Given the description of an element on the screen output the (x, y) to click on. 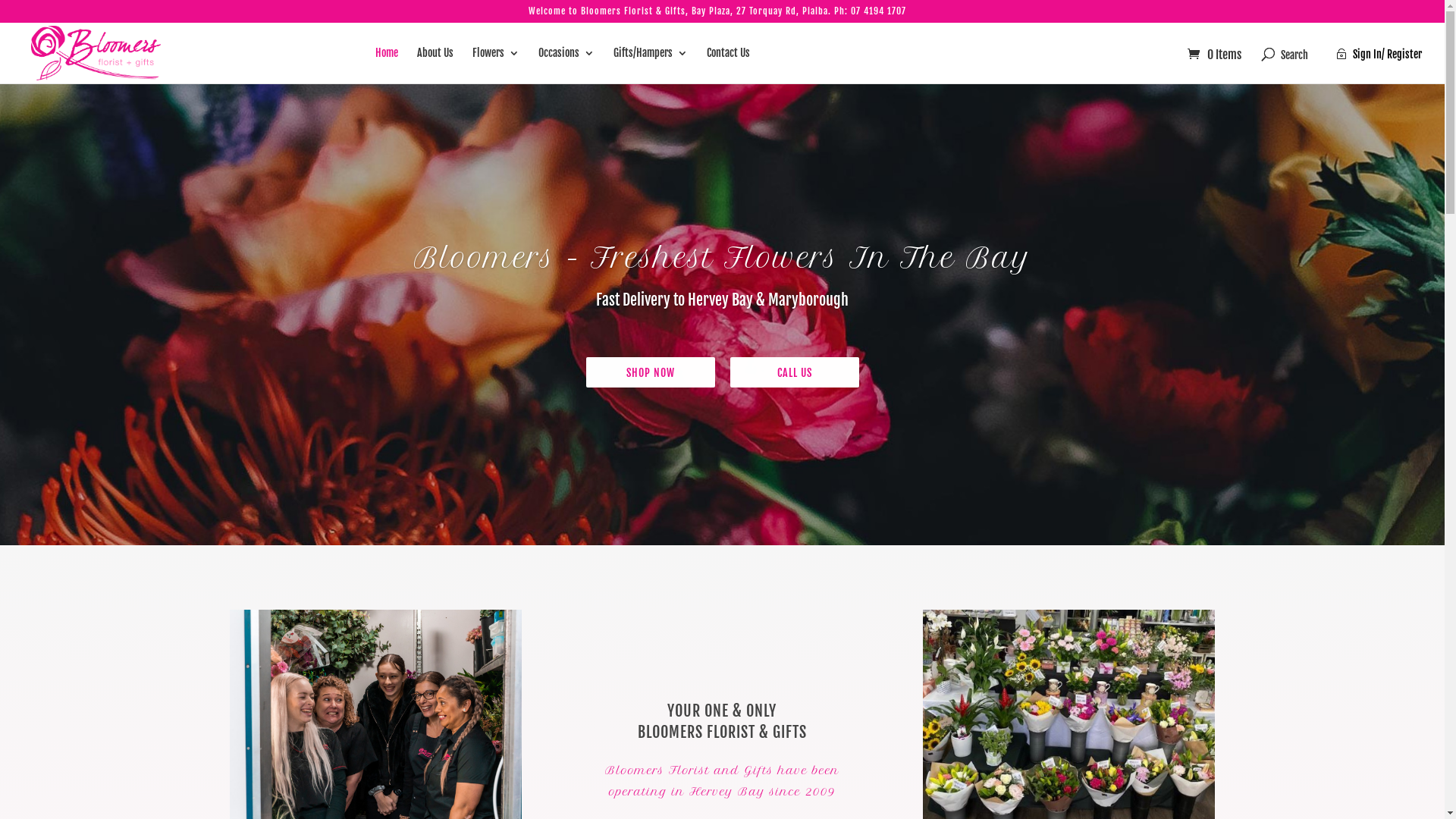
Contact Us Element type: text (727, 65)
Gifts/Hampers Element type: text (650, 65)
Flowers Element type: text (495, 65)
Bloomers - Freshest Flowers In The Bay Element type: text (722, 257)
Home Element type: text (386, 65)
Occasions Element type: text (566, 65)
CALL US Element type: text (793, 372)
07 4194 1707 Element type: text (878, 10)
About Us Element type: text (435, 65)
0 Items Element type: text (1214, 54)
SHOP NOW Element type: text (649, 372)
